Given the description of an element on the screen output the (x, y) to click on. 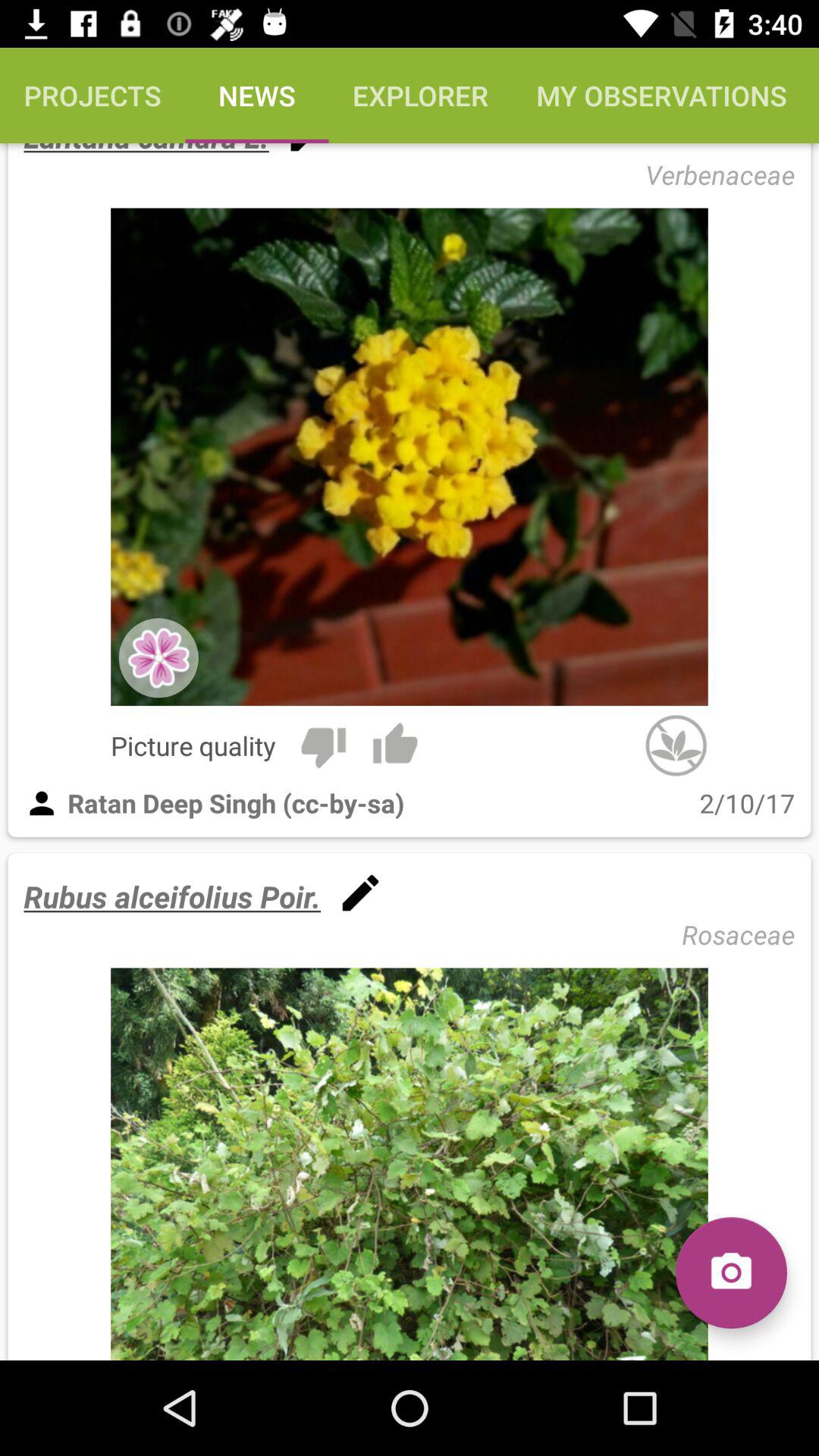
launch the item below projects (146, 149)
